Given the description of an element on the screen output the (x, y) to click on. 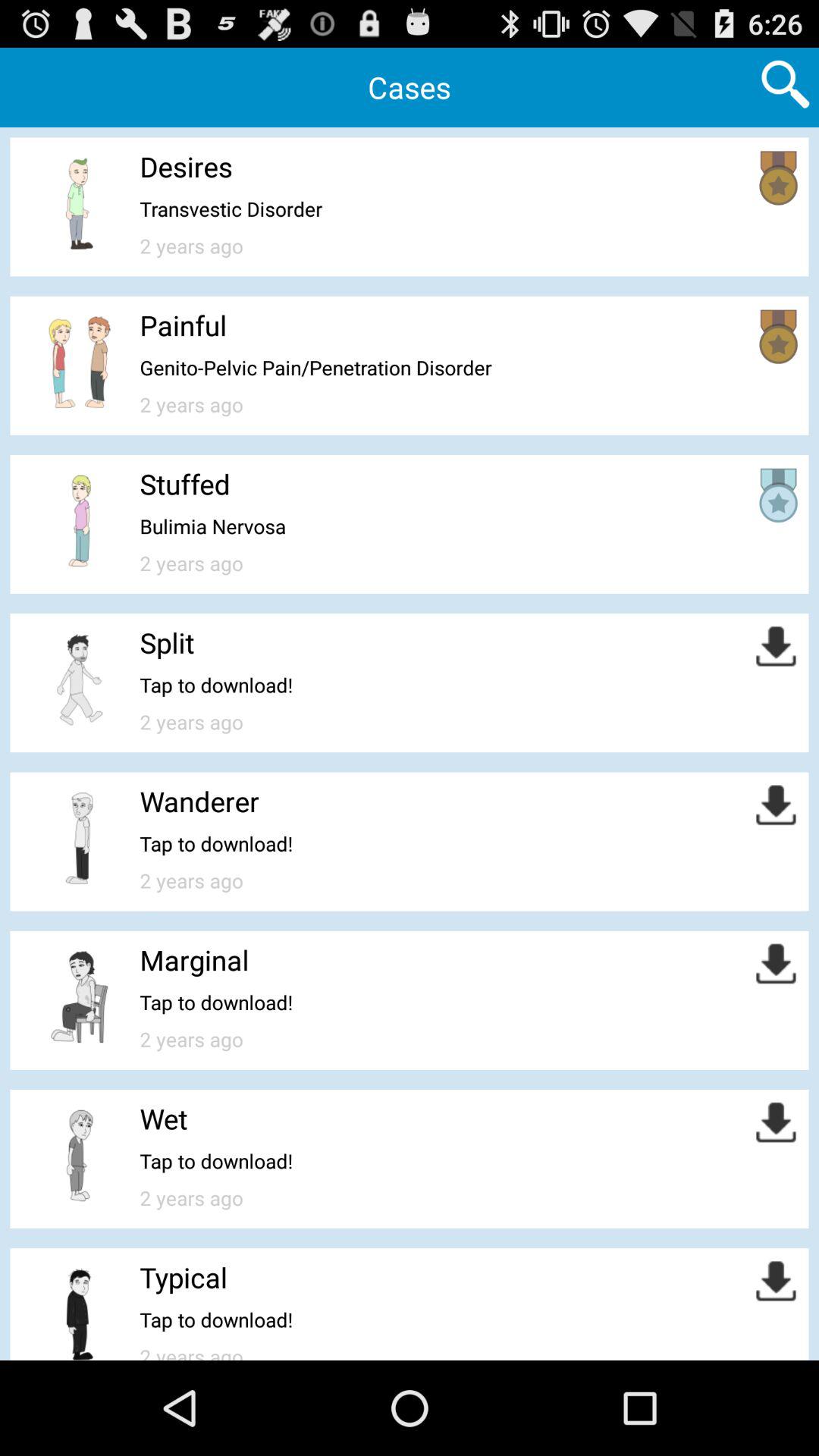
click app above the tap to download! item (199, 801)
